Given the description of an element on the screen output the (x, y) to click on. 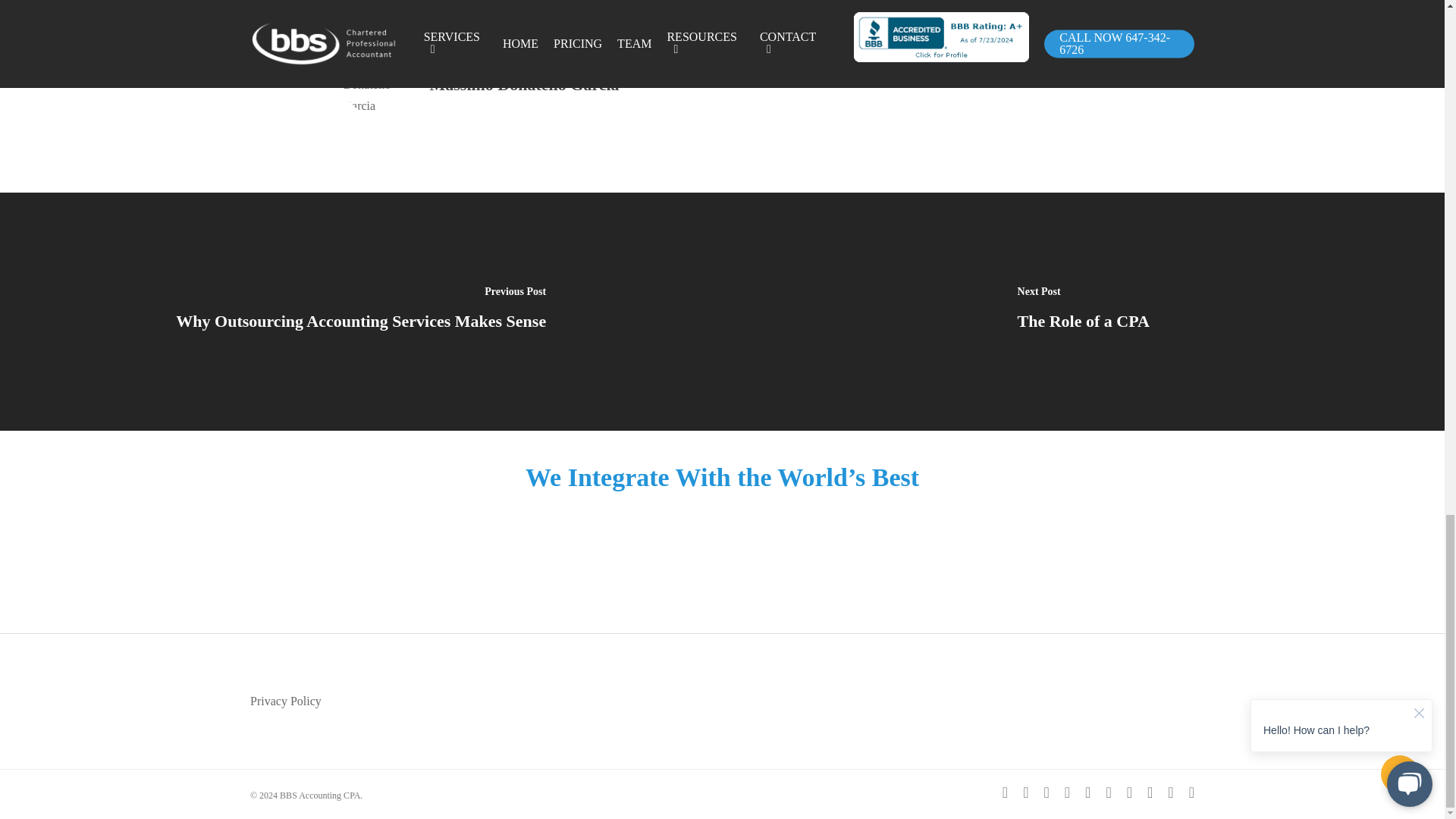
Privacy Policy (285, 700)
Massimo Donatello Garcia (523, 83)
